Given the description of an element on the screen output the (x, y) to click on. 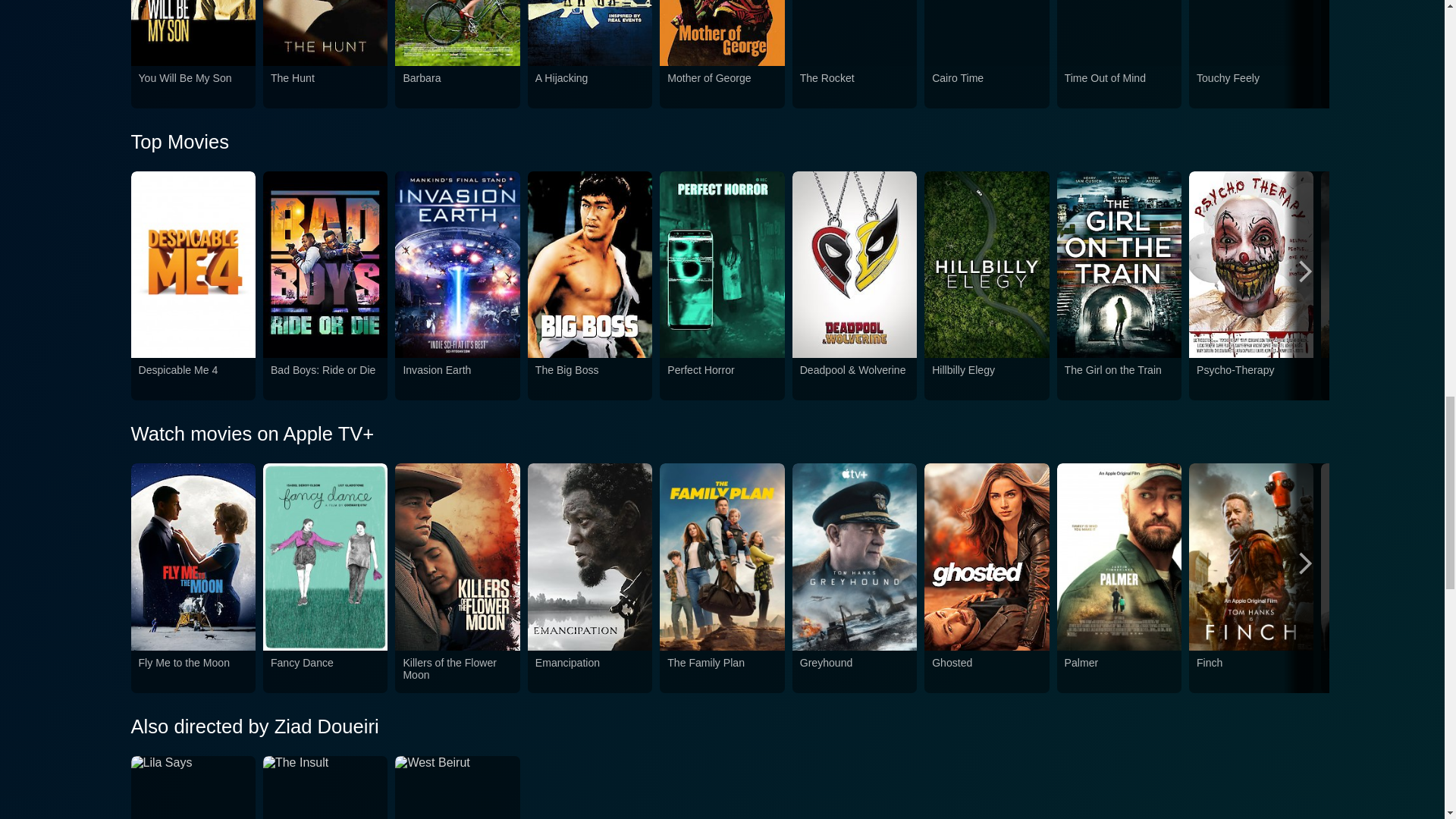
Touchy Feely (1251, 87)
The Big Boss (590, 378)
As I Lay Dying (1382, 87)
The Rocket (853, 87)
Mother of George (721, 87)
Time Out of Mind (1118, 87)
Invasion Earth (457, 378)
Perfect Horror (721, 378)
Bad Boys: Ride or Die (325, 378)
Barbara (457, 87)
Despicable Me 4 (192, 378)
A Hijacking (590, 87)
Cairo Time (986, 87)
The Hunt (325, 87)
You Will Be My Son (192, 87)
